Given the description of an element on the screen output the (x, y) to click on. 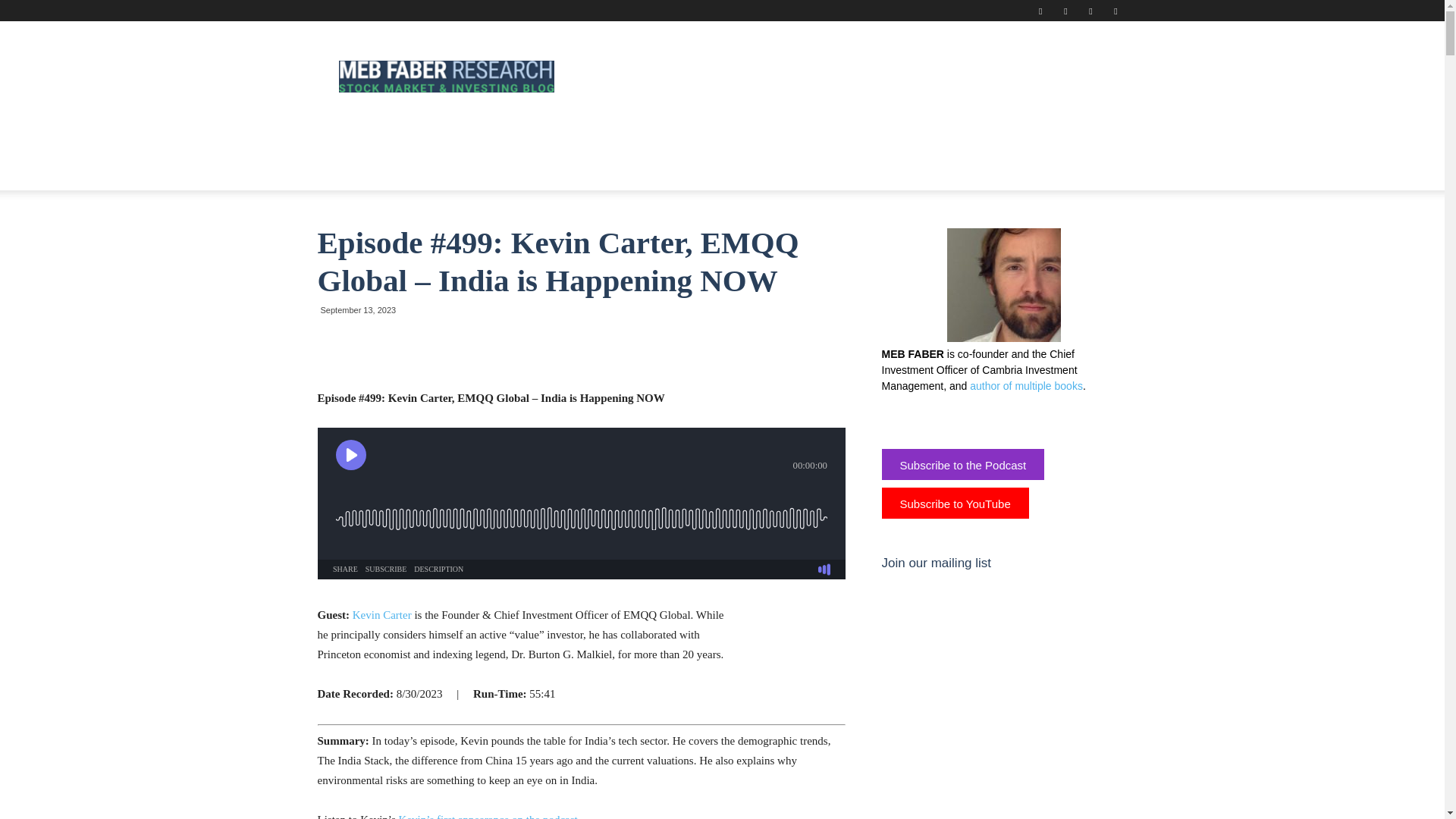
CONTACT (354, 171)
SPEAKING (873, 135)
DATA RESOURCES (551, 135)
PODCAST (948, 135)
Twitter (1090, 10)
Youtube (1114, 10)
Twitter Follow Button (994, 417)
HOME (344, 135)
WHITE PAPERS (783, 135)
Linkedin (1040, 10)
BOOKS (462, 135)
MANAGED ASSETS (672, 135)
ABOUT (402, 135)
RSS (1065, 10)
